Given the description of an element on the screen output the (x, y) to click on. 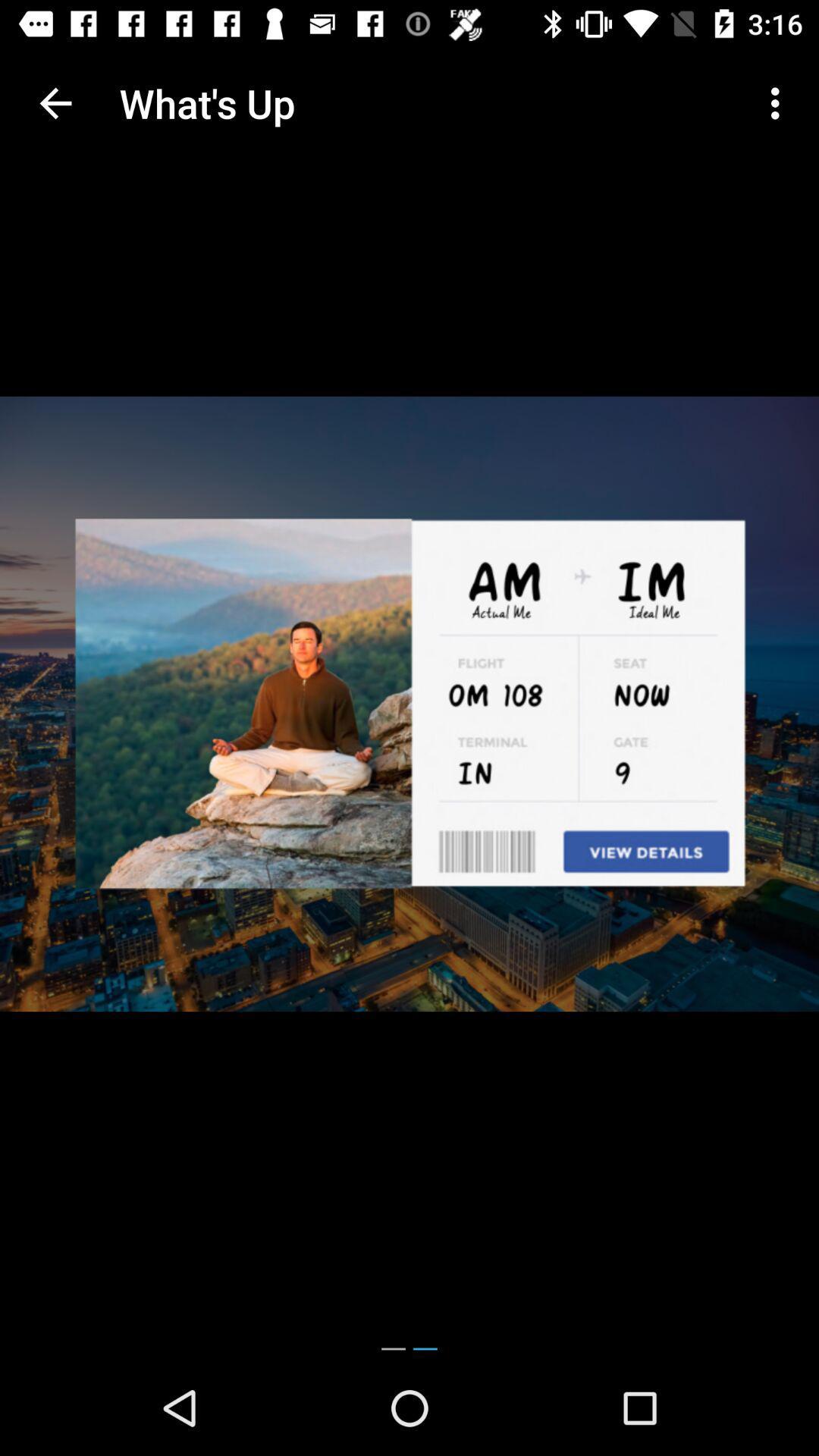
turn off app next to what's up item (779, 103)
